Given the description of an element on the screen output the (x, y) to click on. 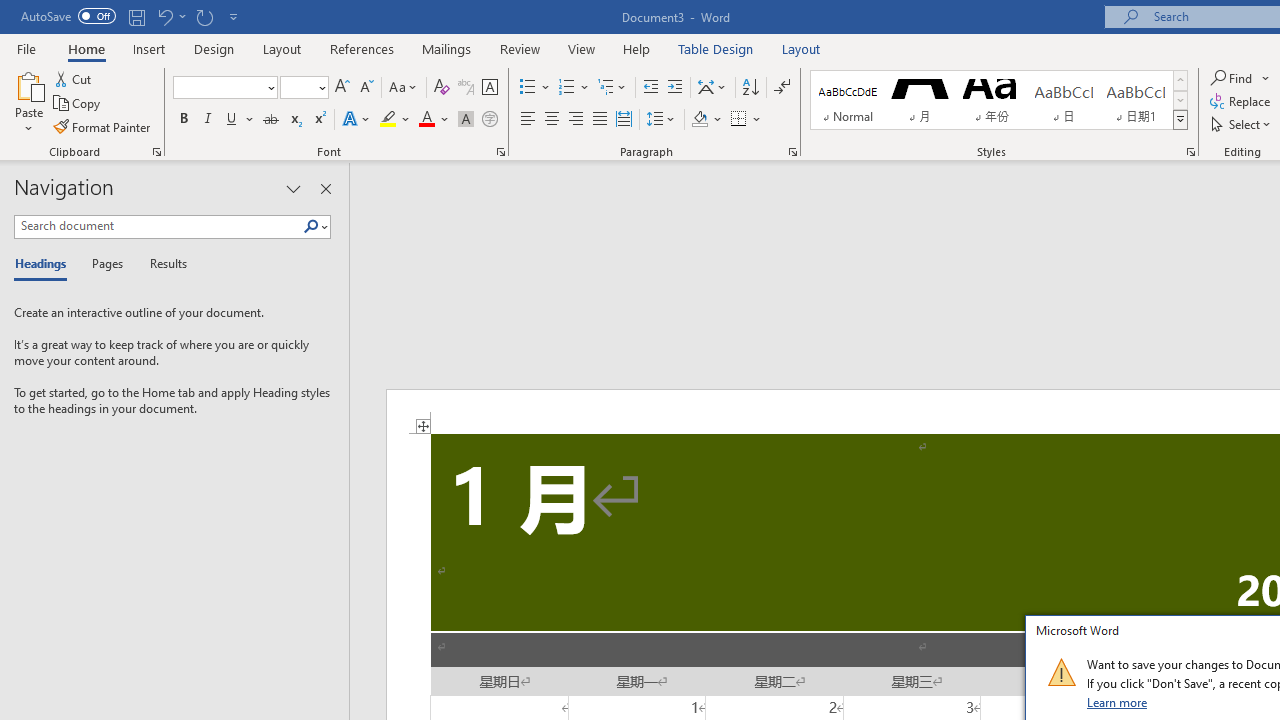
Phonetic Guide... (465, 87)
Replace... (1242, 101)
Undo Shrink Font (170, 15)
Shading RGB(0, 0, 0) (699, 119)
Format Painter (103, 126)
Copy (78, 103)
